Given the description of an element on the screen output the (x, y) to click on. 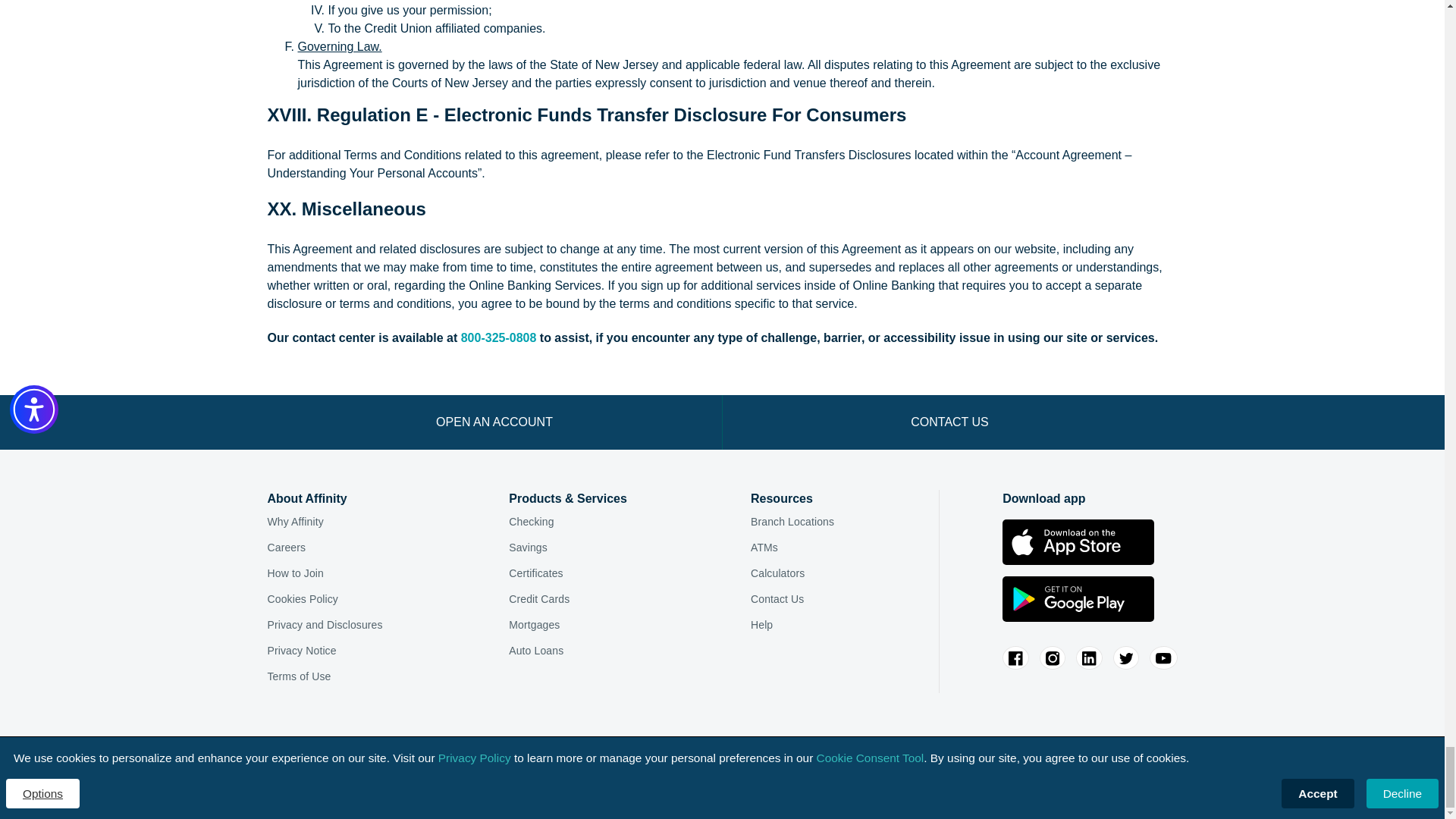
Follow on Twitter (1126, 657)
Follow on Youtube (1163, 657)
Dial 1-800-325-0808 (499, 337)
Follow on Linkedin (1088, 657)
Follow on Facebook (1015, 657)
Follow on Instagram (1052, 657)
